Given the description of an element on the screen output the (x, y) to click on. 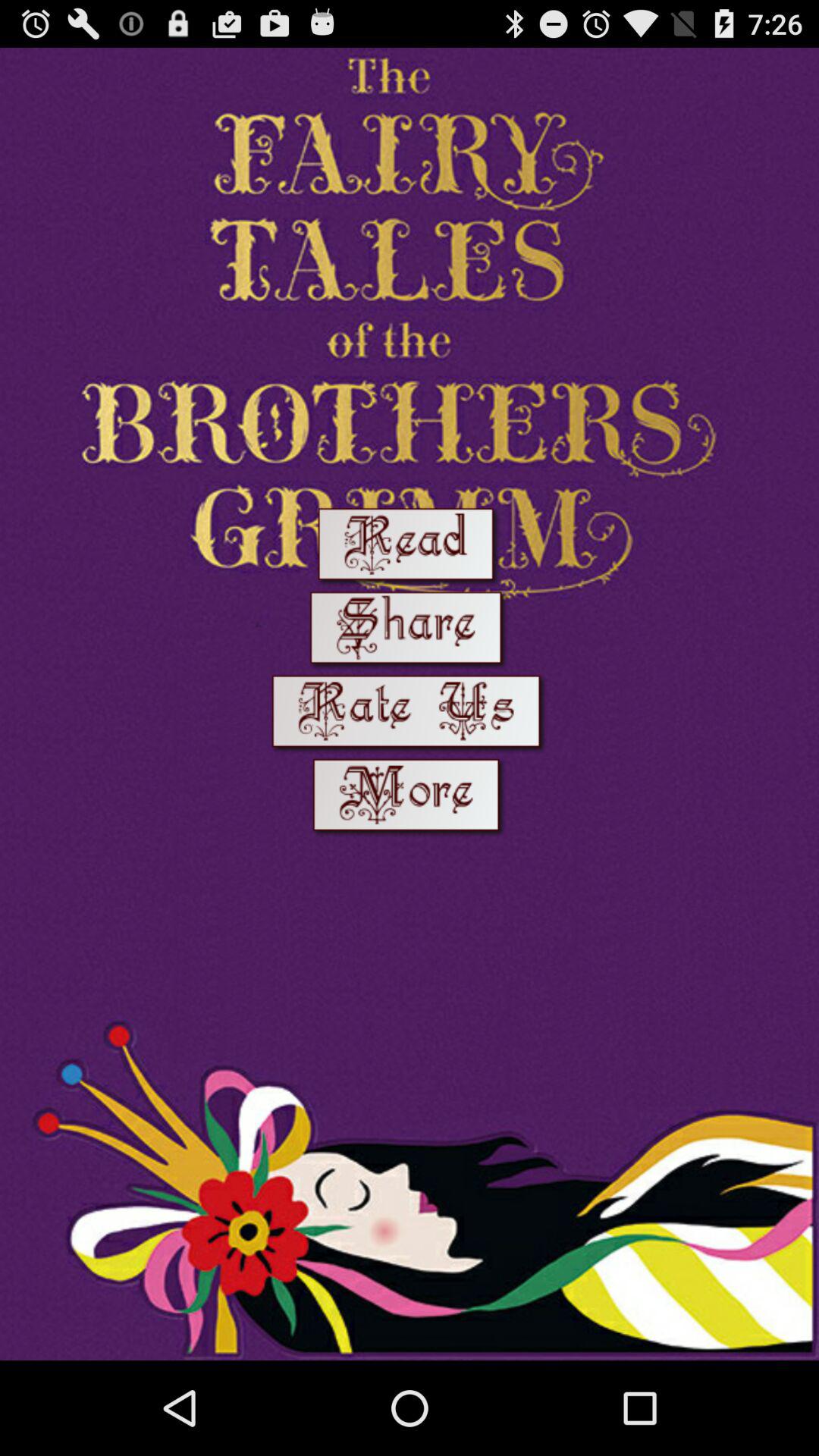
rate (409, 714)
